Given the description of an element on the screen output the (x, y) to click on. 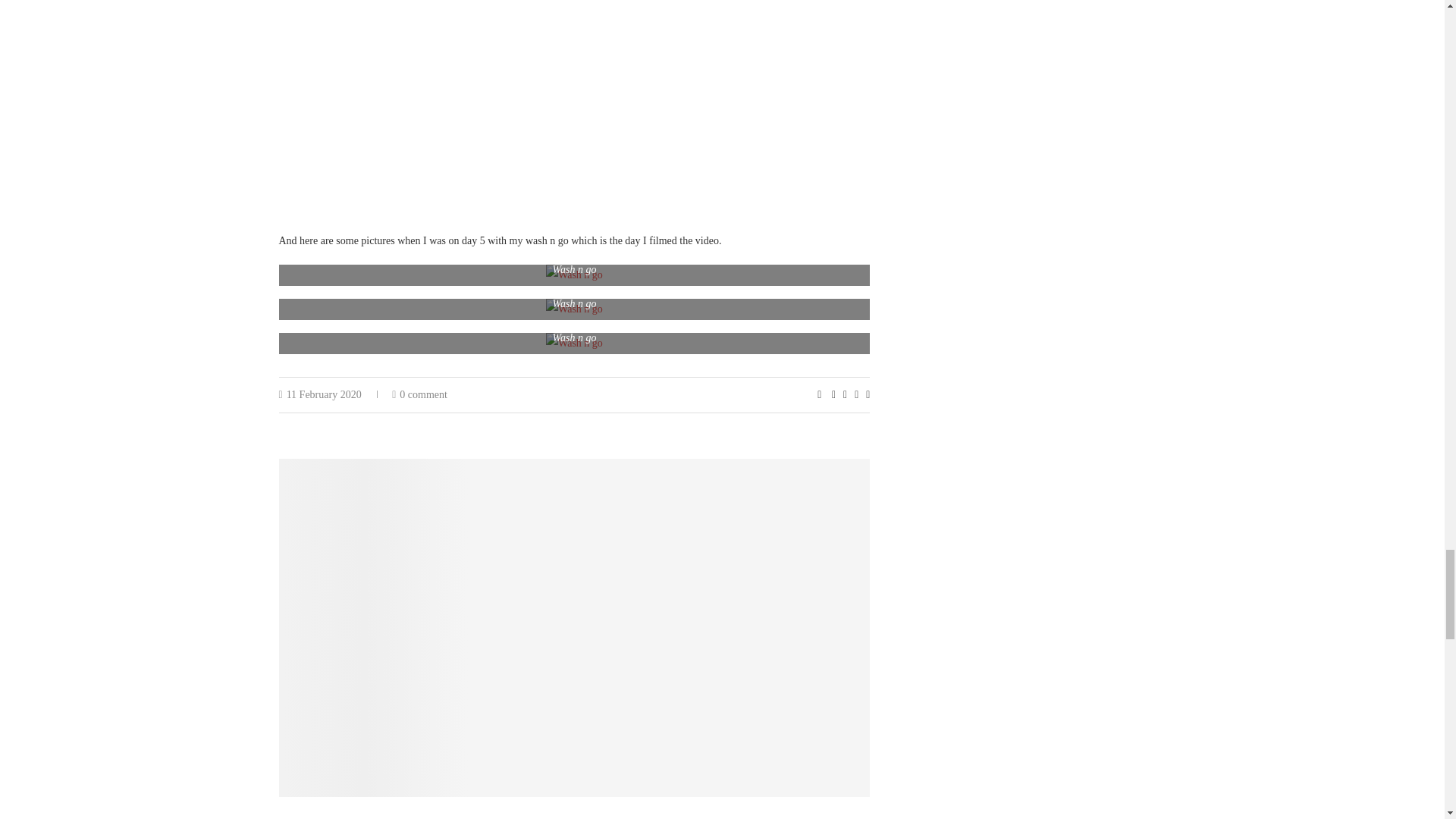
Like (818, 395)
